Given the description of an element on the screen output the (x, y) to click on. 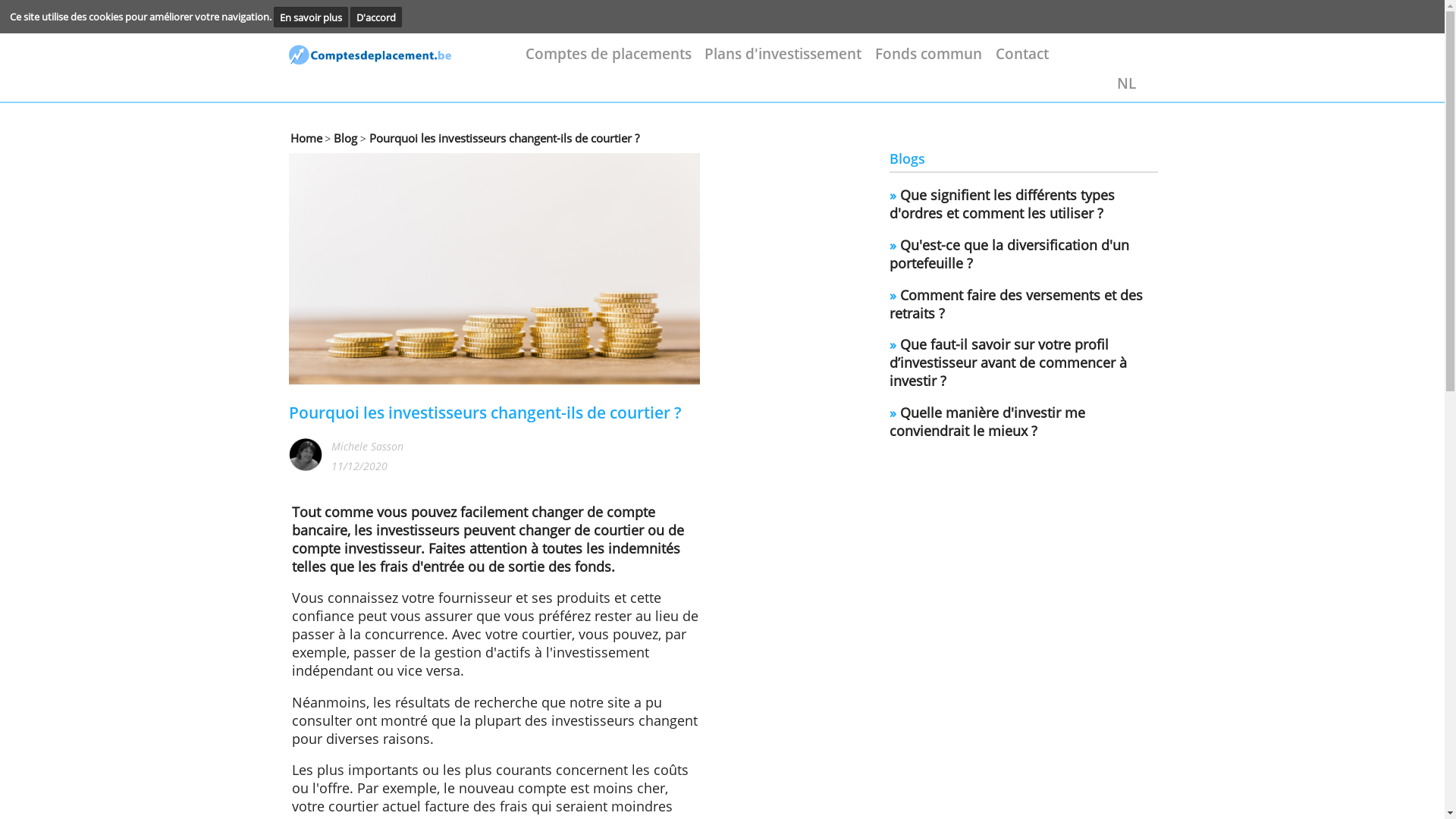
Contact Element type: text (1161, 59)
Plans d'investissement Element type: text (889, 59)
D'accord Element type: text (427, 19)
Comptes de placements Element type: text (691, 59)
Blog Element type: text (391, 156)
NL Element type: text (1277, 94)
Michele Sasson Element type: text (417, 506)
Fonds commun Element type: text (1054, 59)
En savoir plus Element type: text (352, 19)
Pourquoi les investisseurs changent-ils de courtier ? Element type: text (570, 156)
Home Element type: text (347, 156)
